Given the description of an element on the screen output the (x, y) to click on. 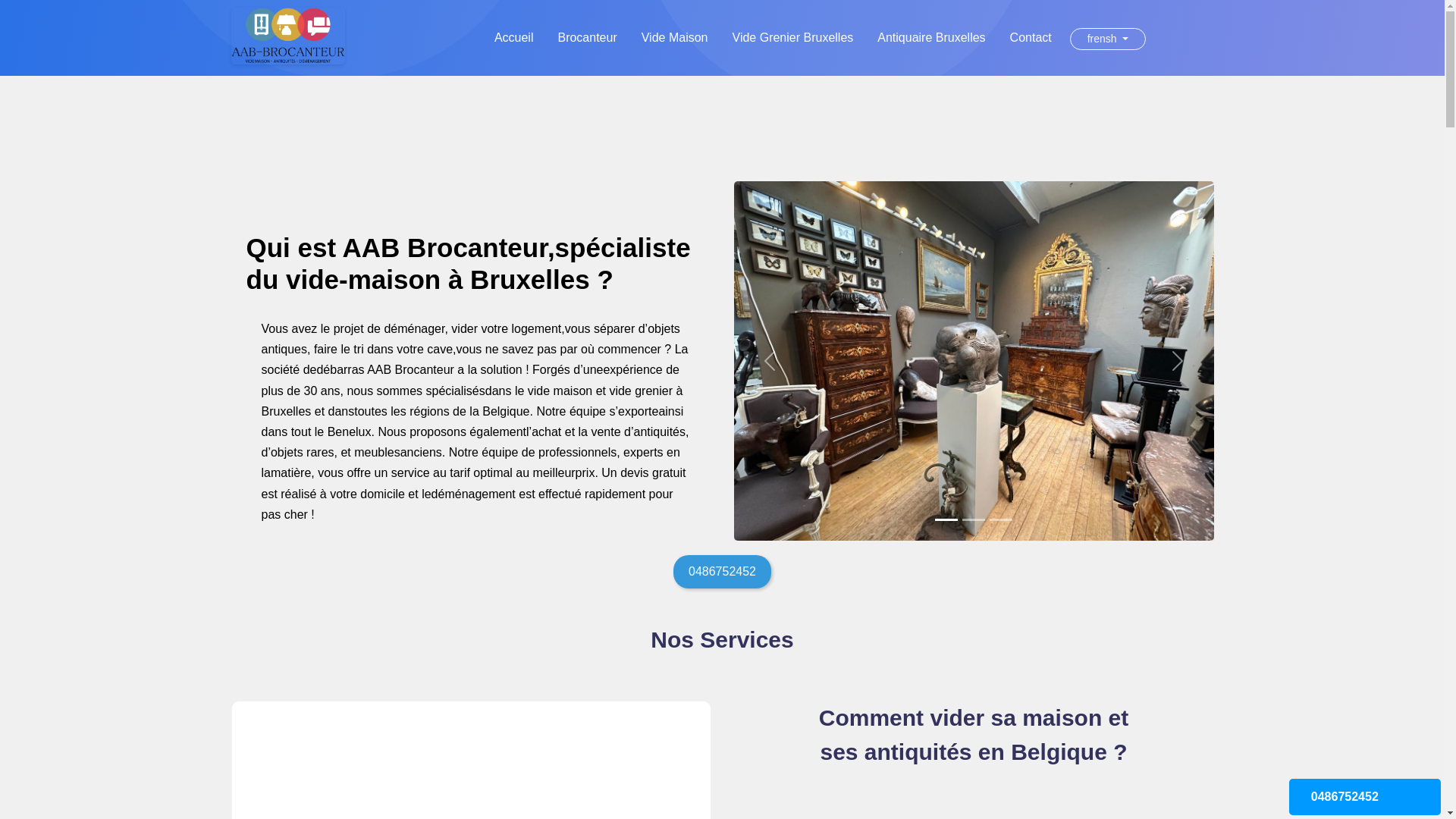
Next Element type: text (1178, 360)
frensh Element type: text (1107, 39)
Contact Element type: text (1030, 37)
Vide Grenier Bruxelles Element type: text (792, 37)
Previous Element type: text (770, 360)
Accueil Element type: text (513, 37)
Antiquaire Bruxelles Element type: text (931, 37)
0486752452 Element type: text (722, 571)
Vide Maison Element type: text (674, 37)
0486752452 Element type: text (722, 570)
Brocanteur Element type: text (586, 37)
0486752452 Element type: text (1364, 796)
